Given the description of an element on the screen output the (x, y) to click on. 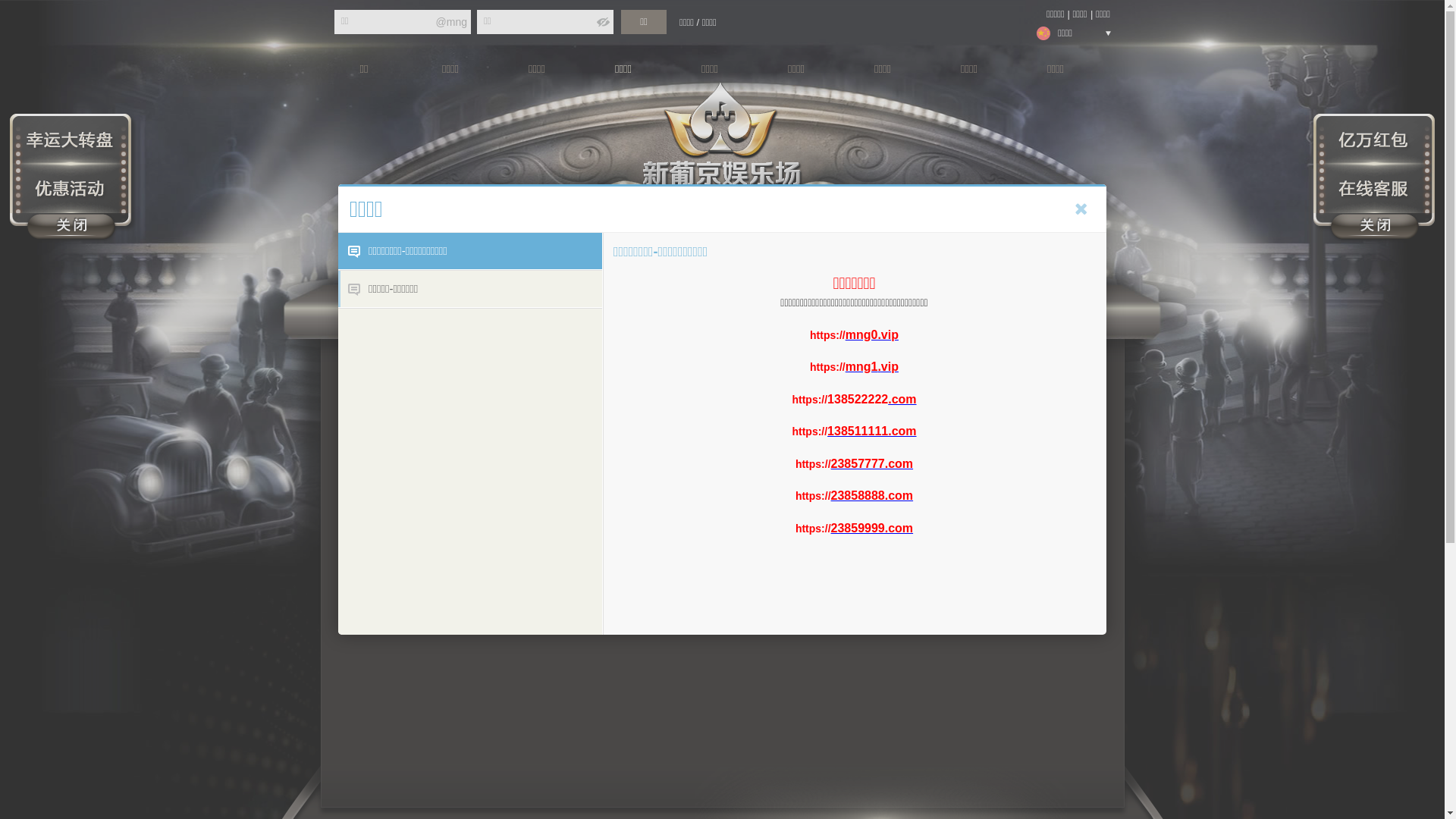
.com Element type: text (902, 398)
mng1 Element type: text (861, 366)
23858888.com Element type: text (872, 495)
. Element type: text (878, 366)
mng0.vip Element type: text (871, 333)
23857777.com Element type: text (872, 462)
vip Element type: text (889, 366)
23859999.com Element type: text (872, 527)
138511111.com Element type: text (871, 430)
